Given the description of an element on the screen output the (x, y) to click on. 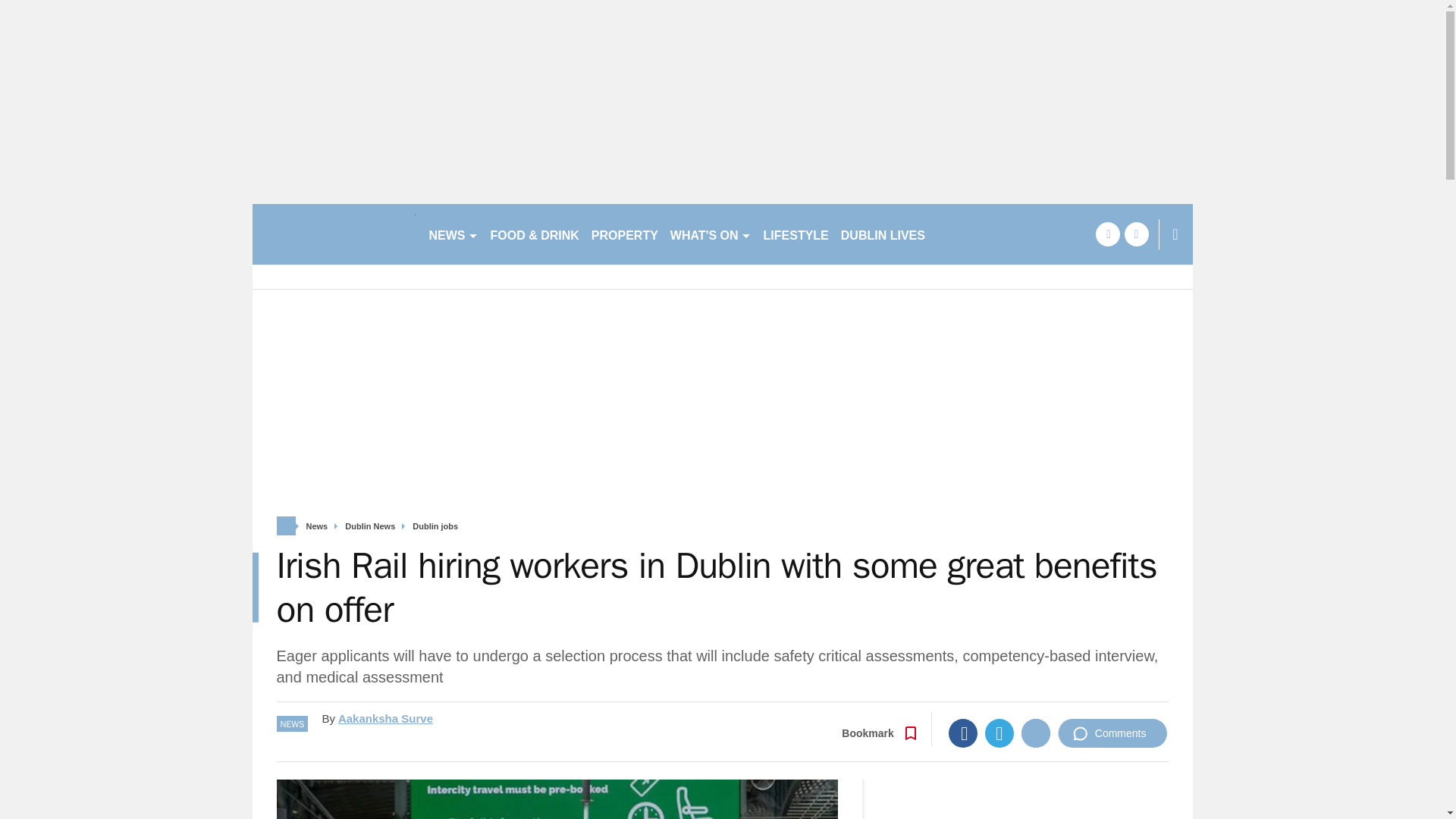
facebook (1106, 233)
PROPERTY (624, 233)
dublinlive (332, 233)
NEWS (453, 233)
Twitter (999, 733)
SOCCER (962, 233)
Facebook (962, 733)
LIFESTYLE (795, 233)
WHAT'S ON (710, 233)
Comments (1112, 733)
